Given the description of an element on the screen output the (x, y) to click on. 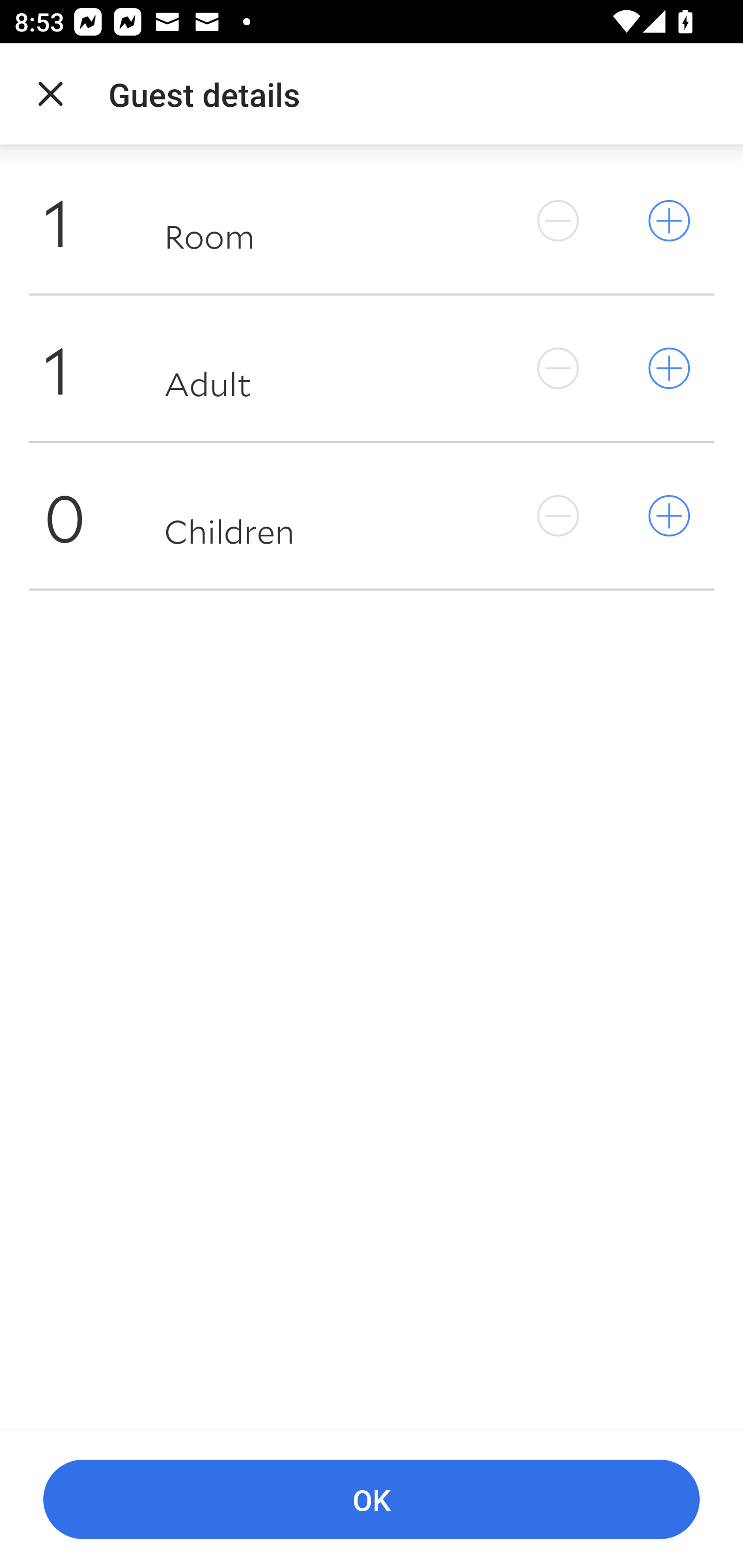
OK (371, 1499)
